Given the description of an element on the screen output the (x, y) to click on. 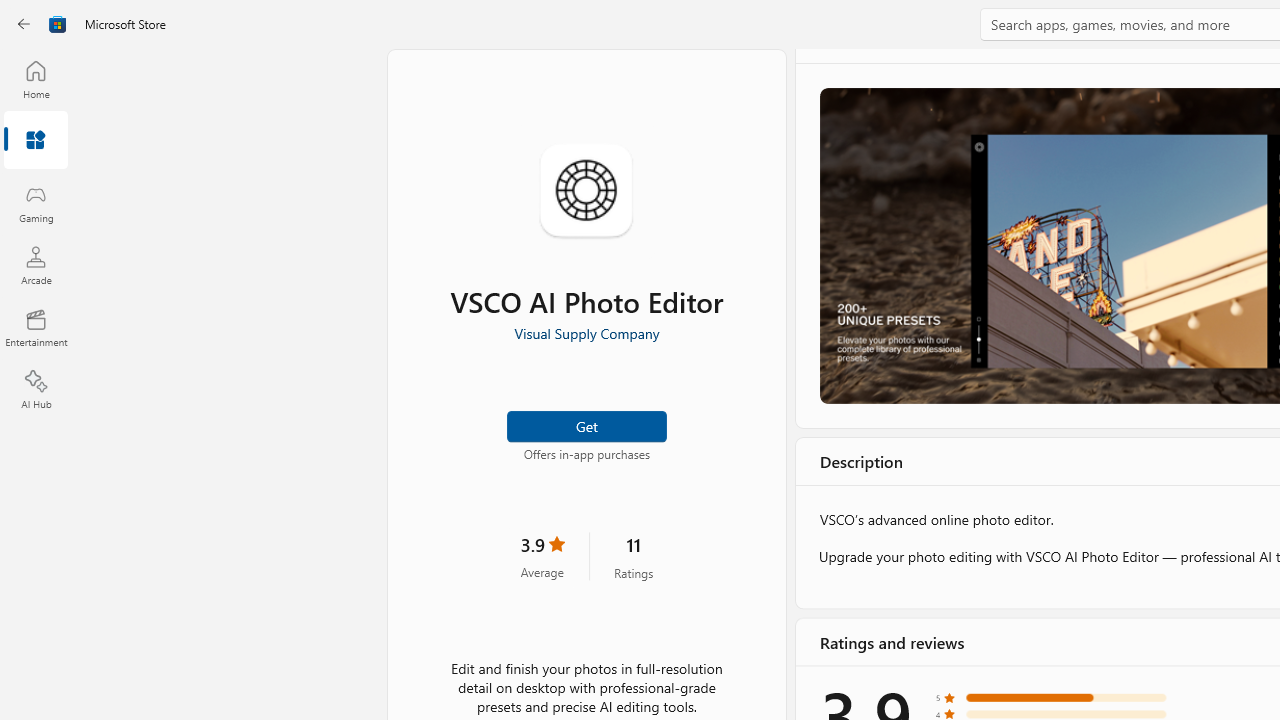
AI Hub (35, 390)
Apps (35, 141)
Class: Image (58, 24)
Get (586, 424)
Show all ratings and reviews (838, 367)
Show more (854, 623)
Home (35, 79)
3.9 stars. Click to skip to ratings and reviews (542, 556)
Entertainment (35, 327)
Visual Supply Company (586, 333)
Gaming (35, 203)
Back (24, 24)
Arcade (35, 265)
